Given the description of an element on the screen output the (x, y) to click on. 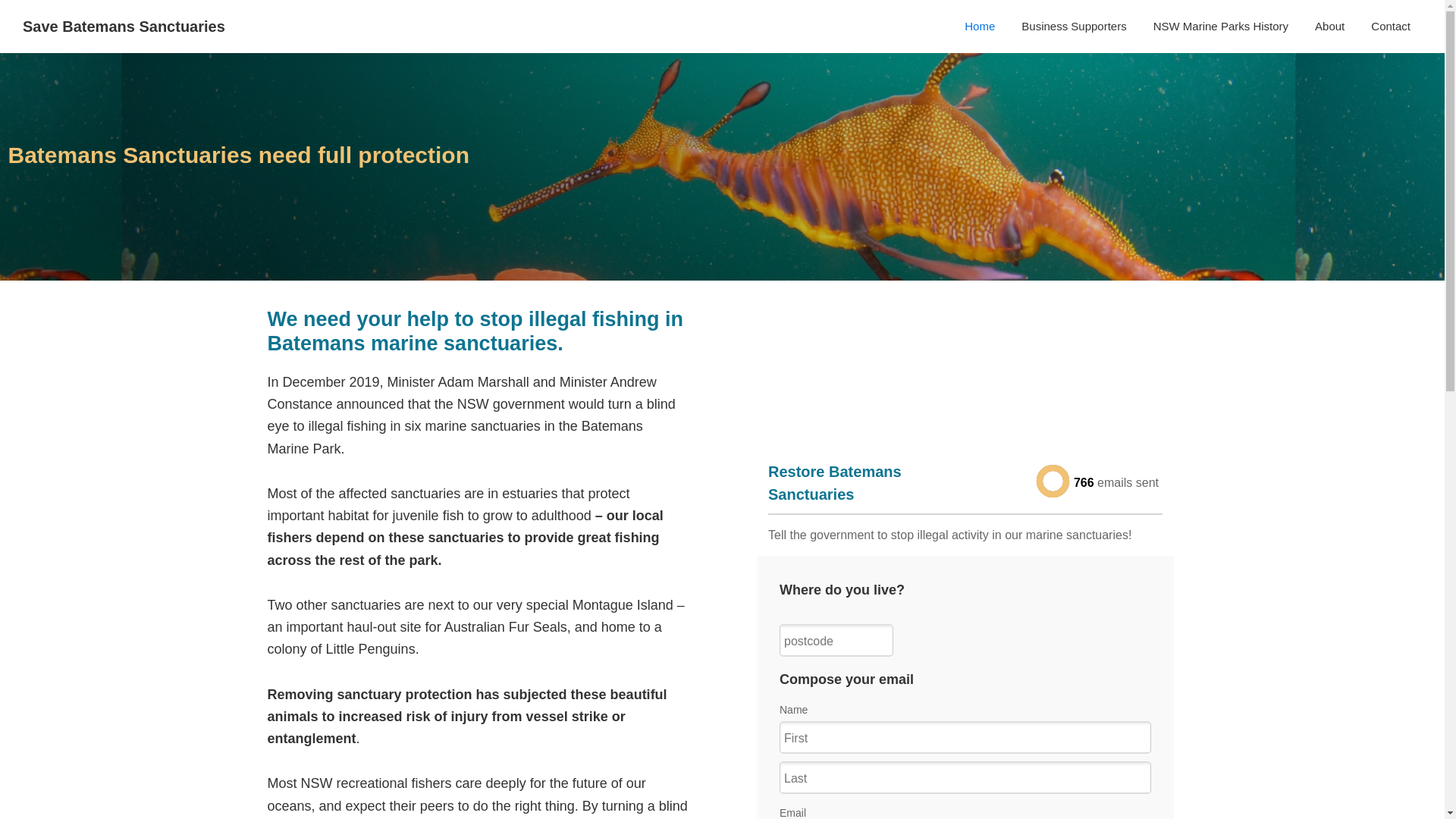
Skip to primary navigation Element type: text (0, 0)
Save Batemans Sanctuaries Element type: text (123, 26)
Home Element type: text (979, 25)
Contact Element type: text (1390, 25)
About Element type: text (1329, 25)
Business Supporters Element type: text (1073, 25)
NSW Marine Parks History Element type: text (1220, 25)
